Given the description of an element on the screen output the (x, y) to click on. 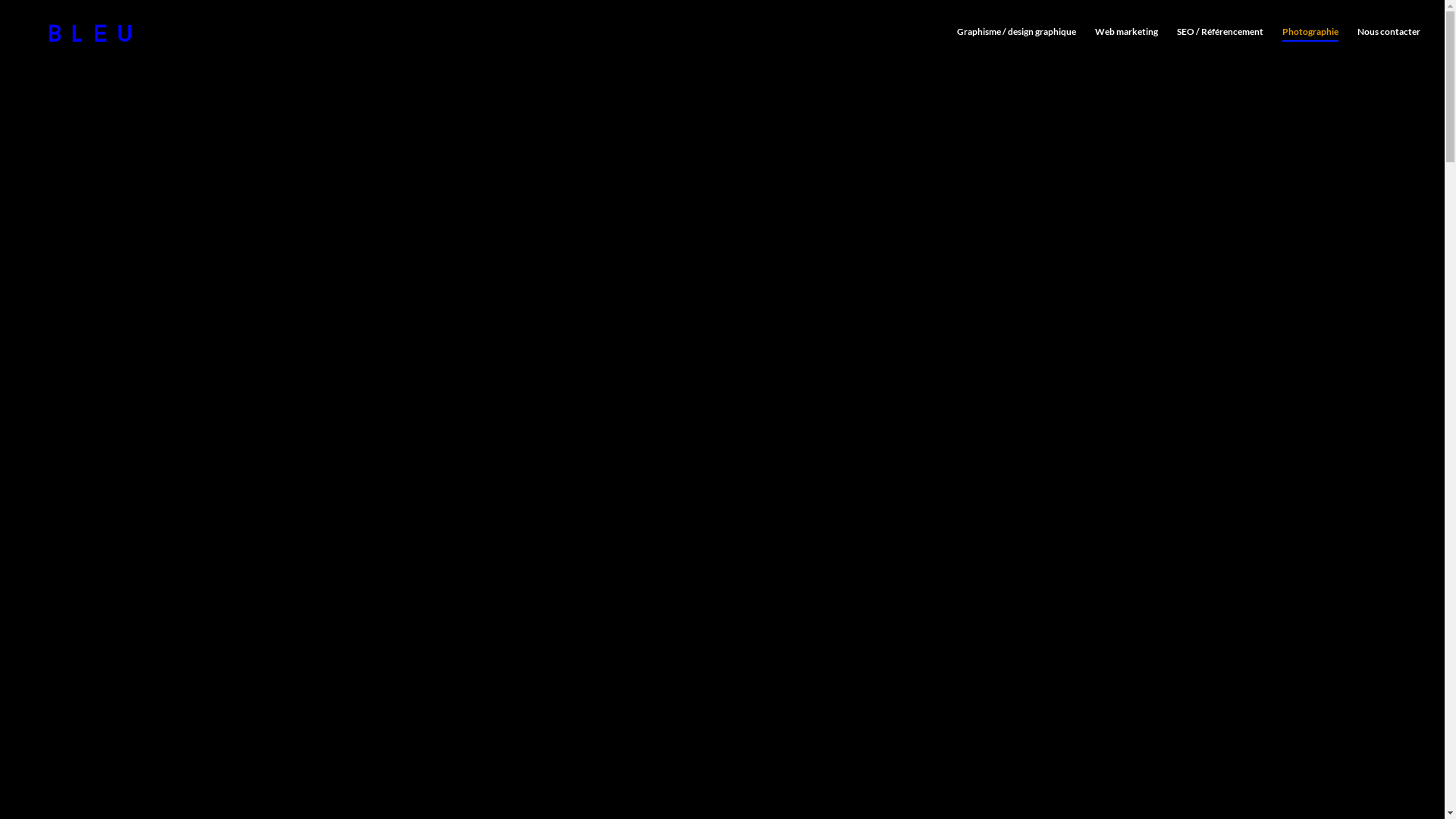
Nous contacter Element type: text (1388, 44)
Graphisme / design graphique Element type: text (1016, 44)
Web marketing Element type: text (1126, 44)
Photographie Element type: text (1310, 44)
